Given the description of an element on the screen output the (x, y) to click on. 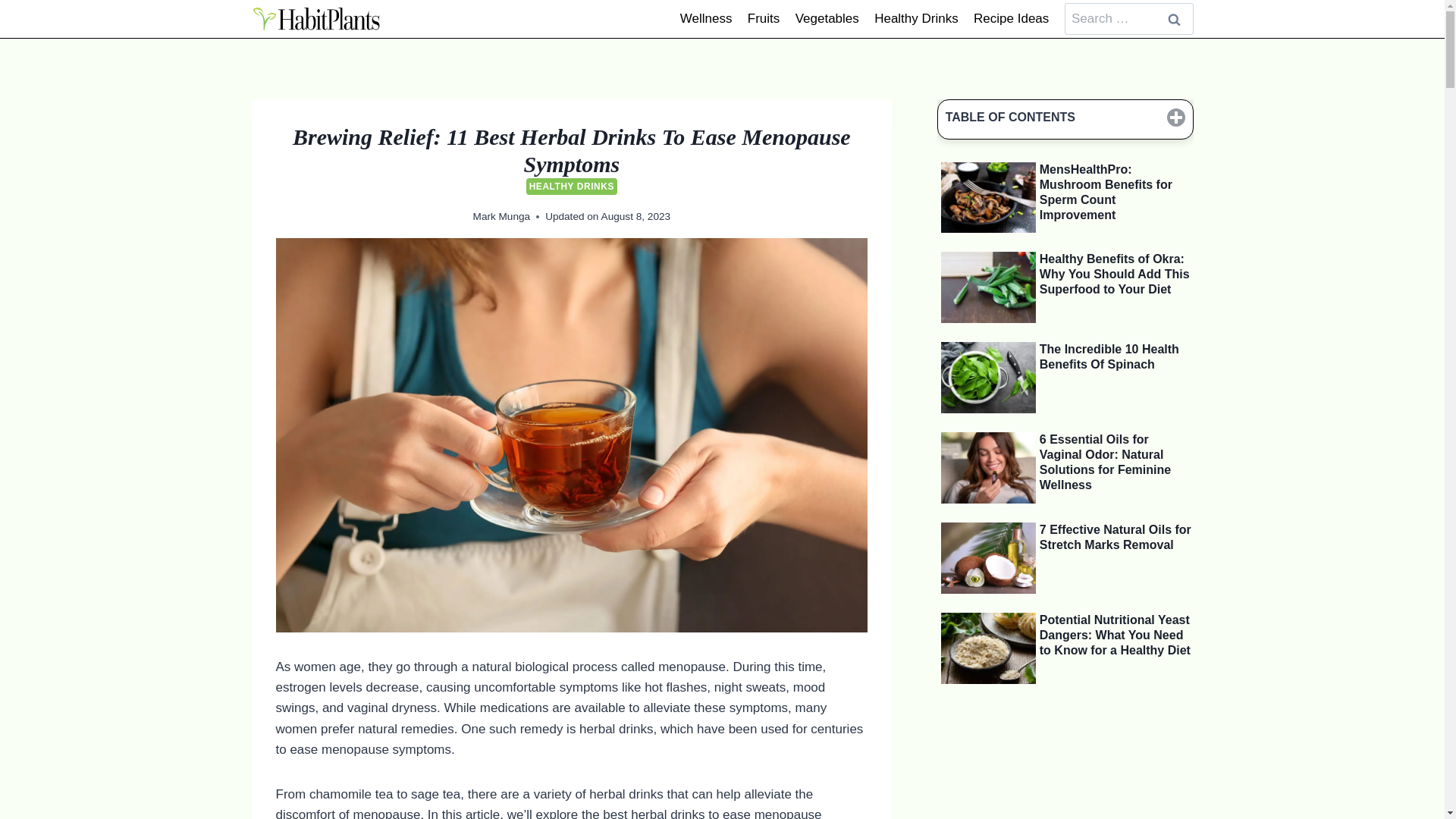
Wellness (705, 18)
Healthy Drinks (916, 18)
Mark Munga (502, 215)
TABLE OF CONTENTS (1065, 119)
Search (1174, 19)
Vegetables (826, 18)
Fruits (763, 18)
HEALTHY DRINKS (571, 186)
Search (1174, 19)
Recipe Ideas (1011, 18)
